Given the description of an element on the screen output the (x, y) to click on. 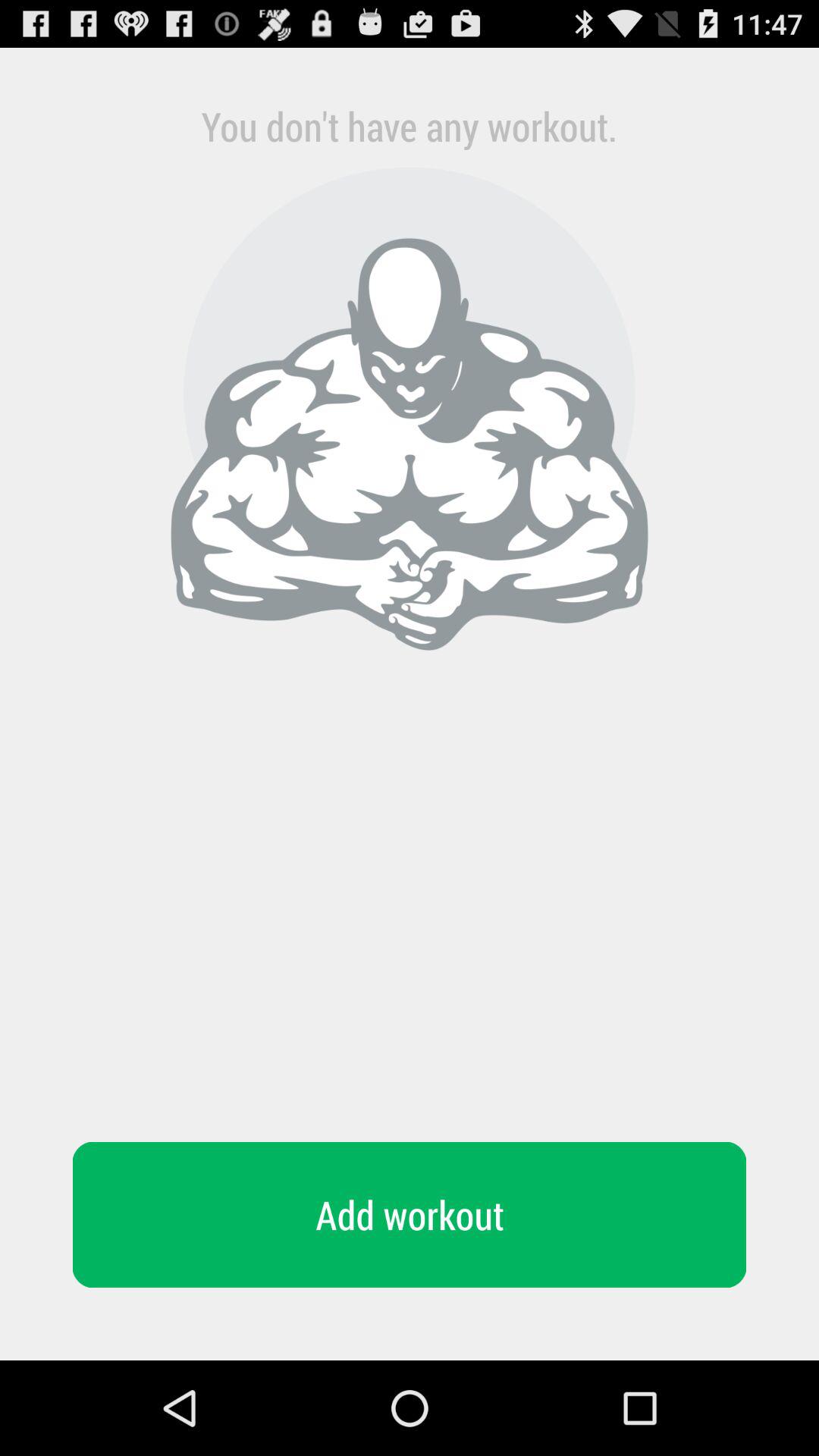
swipe to add workout button (409, 1214)
